Given the description of an element on the screen output the (x, y) to click on. 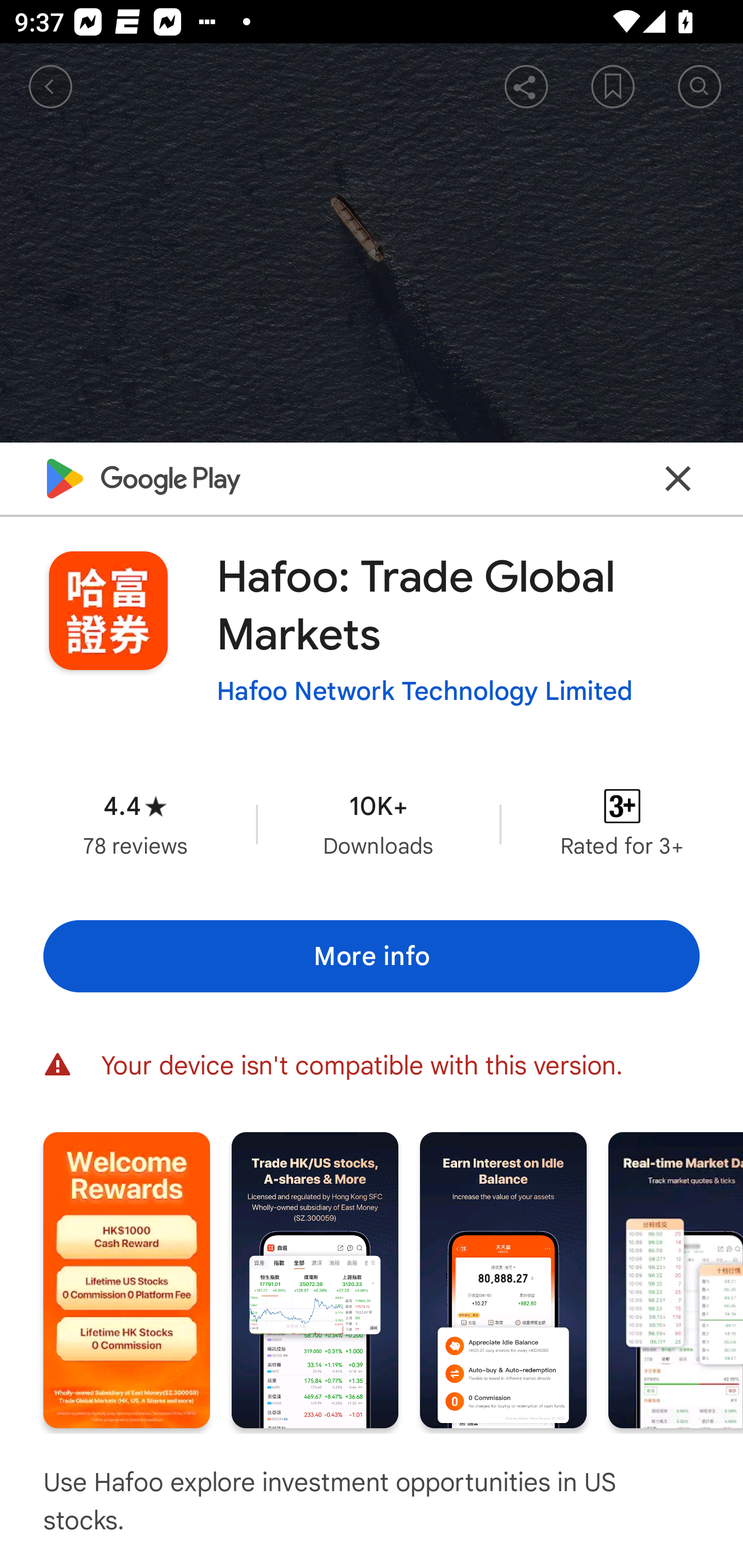
Close (677, 478)
Hafoo Network Technology Limited (424, 690)
More info (371, 956)
Screenshot "1" of "8" (126, 1280)
Screenshot "2" of "8" (314, 1280)
Screenshot "3" of "8" (502, 1280)
Screenshot "4" of "8" (675, 1280)
